Given the description of an element on the screen output the (x, y) to click on. 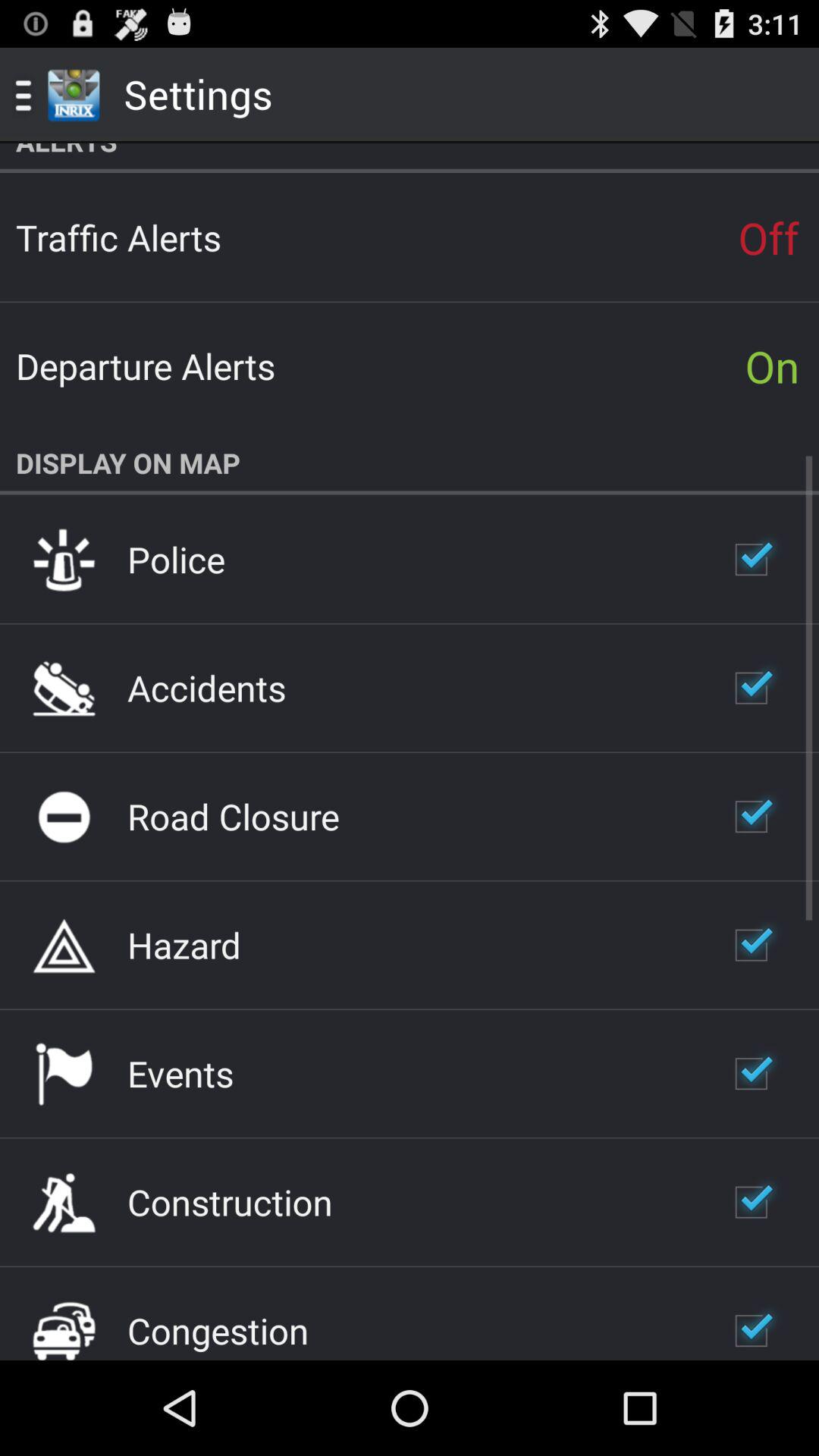
tap the app below on item (409, 462)
